Given the description of an element on the screen output the (x, y) to click on. 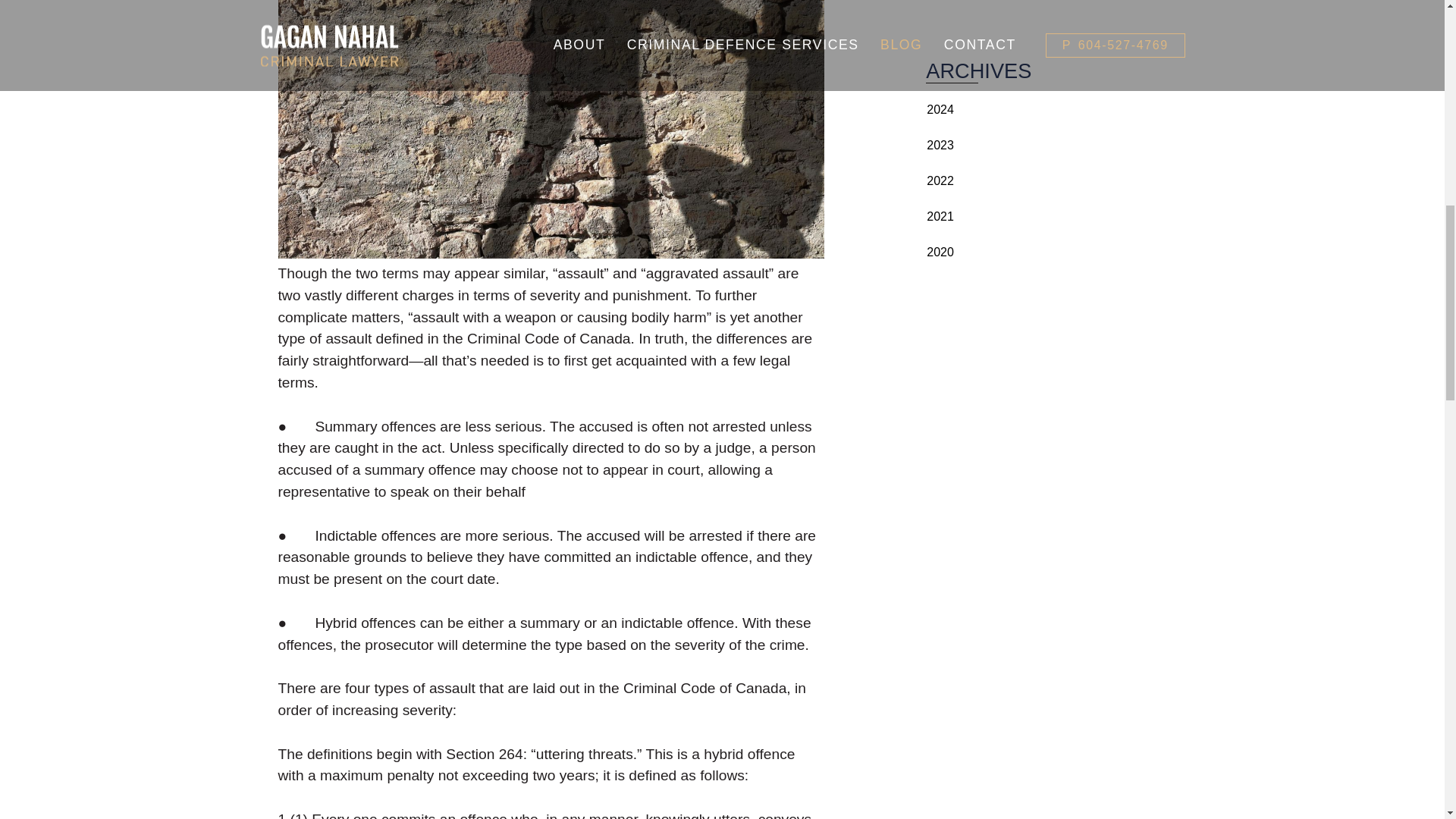
2024 (939, 109)
2020 (939, 251)
2021 (939, 215)
2022 (939, 180)
2023 (939, 144)
